Given the description of an element on the screen output the (x, y) to click on. 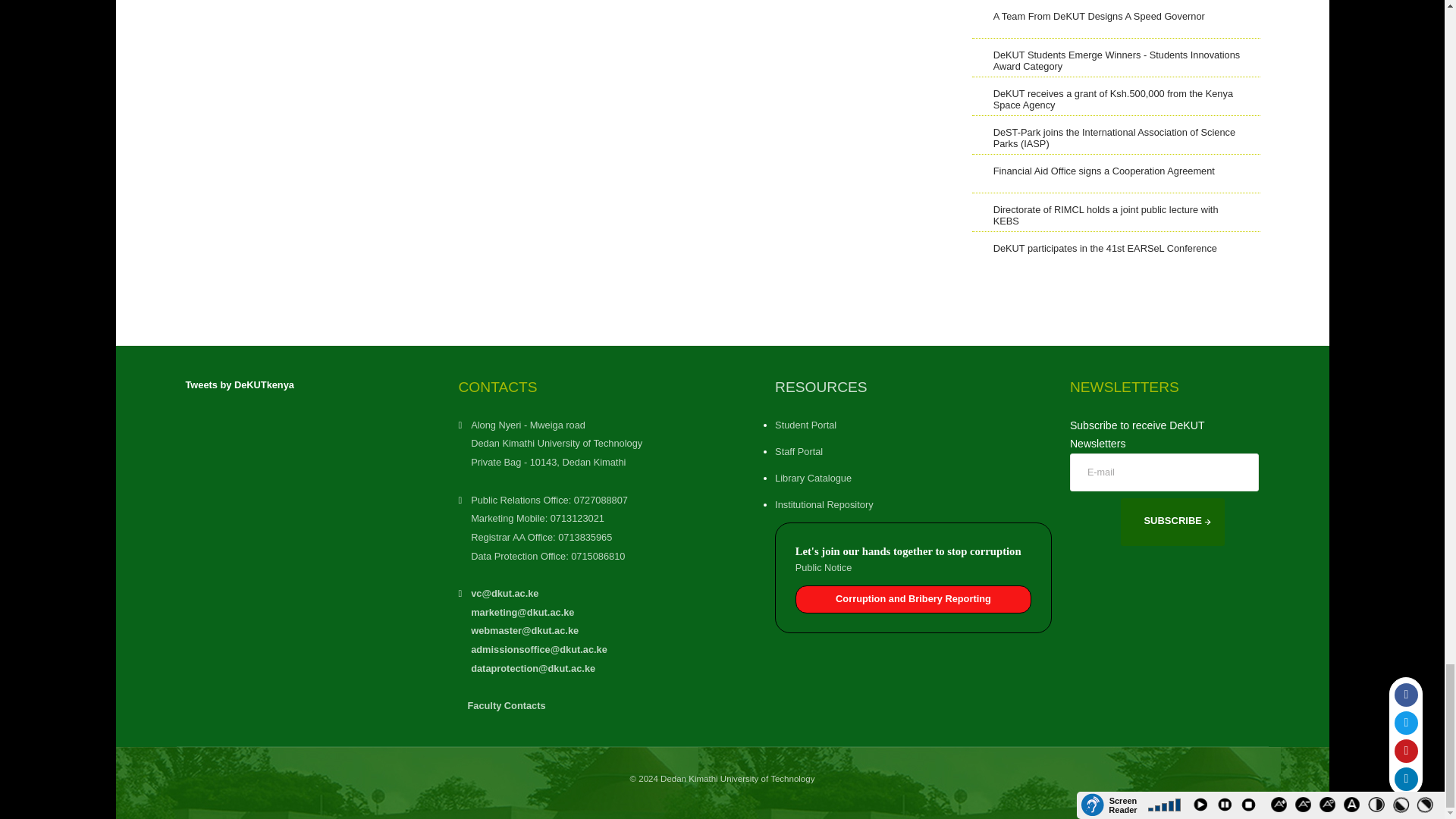
Subscribe (1172, 521)
E-mail (1164, 472)
E-mail (1164, 472)
